Given the description of an element on the screen output the (x, y) to click on. 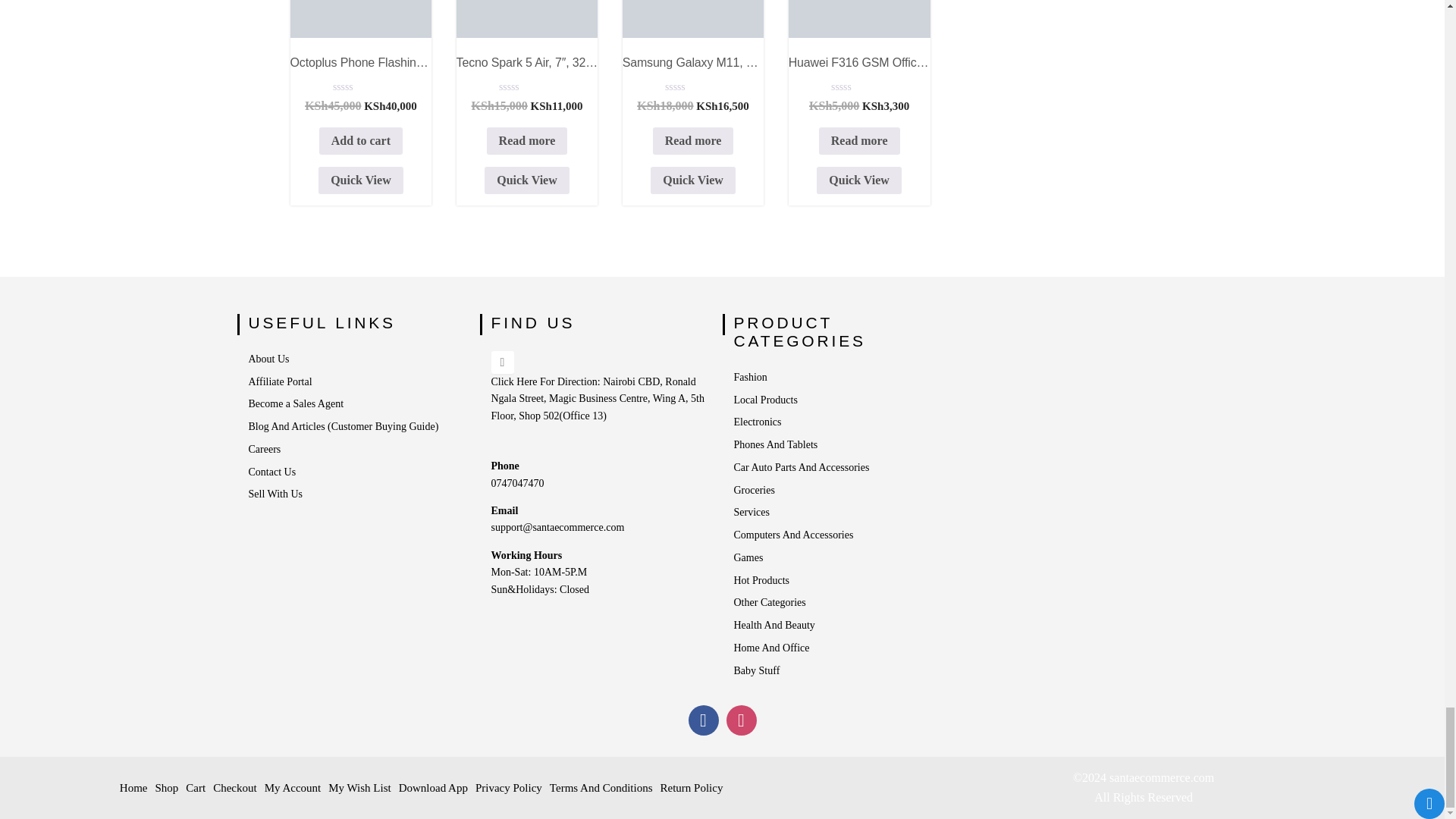
Instagram (741, 720)
Add to cart (360, 140)
Read more (692, 140)
Quick View (360, 180)
Facebook (703, 720)
Read more (526, 140)
Quick View (359, 73)
